Given the description of an element on the screen output the (x, y) to click on. 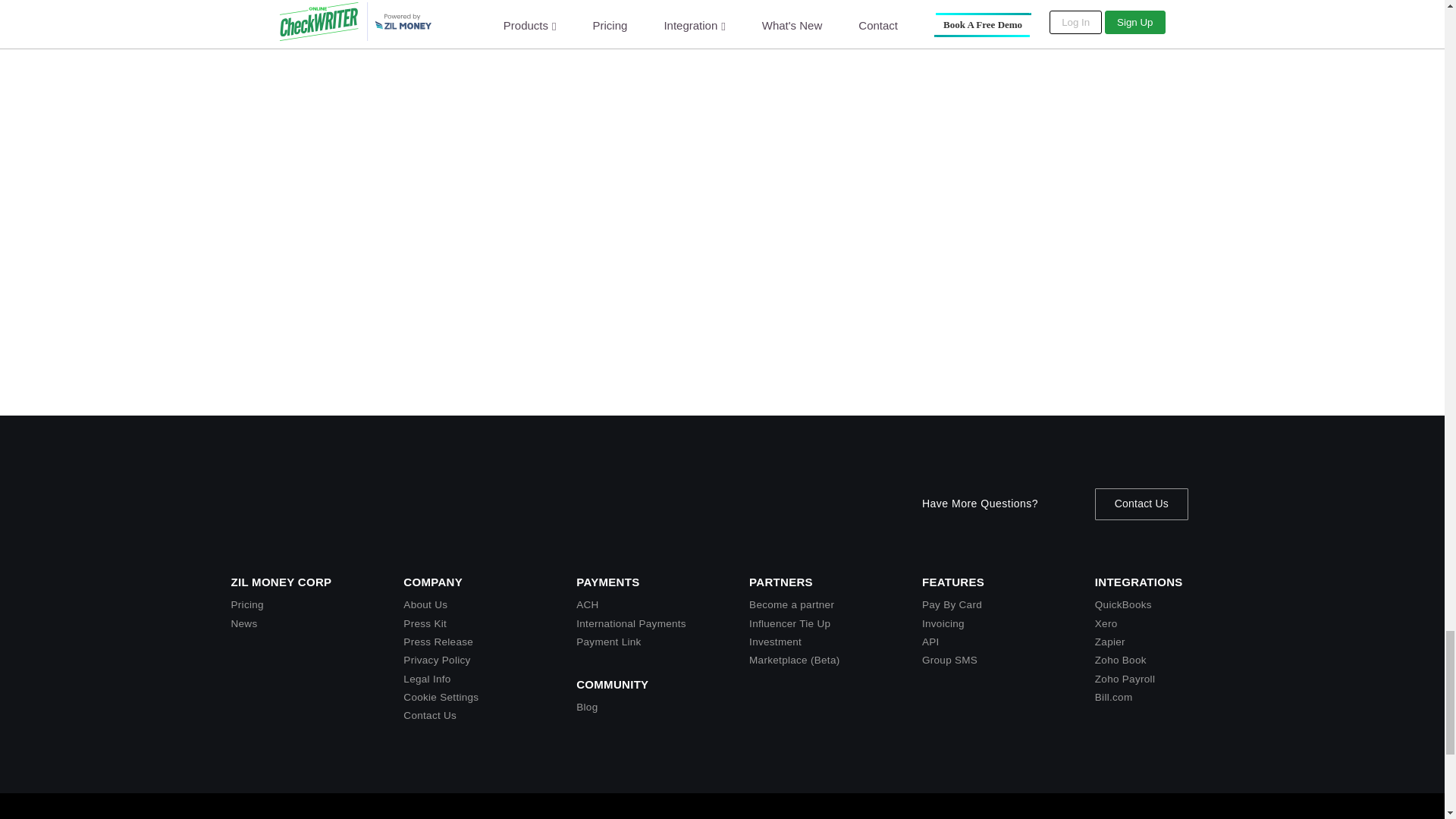
Follow on Facebook (1170, 816)
Follow on X (1048, 816)
Follow on Pinterest (1200, 816)
Follow on LinkedIn (1109, 816)
Follow on Youtube (1079, 816)
Follow on Instagram (1140, 816)
